Given the description of an element on the screen output the (x, y) to click on. 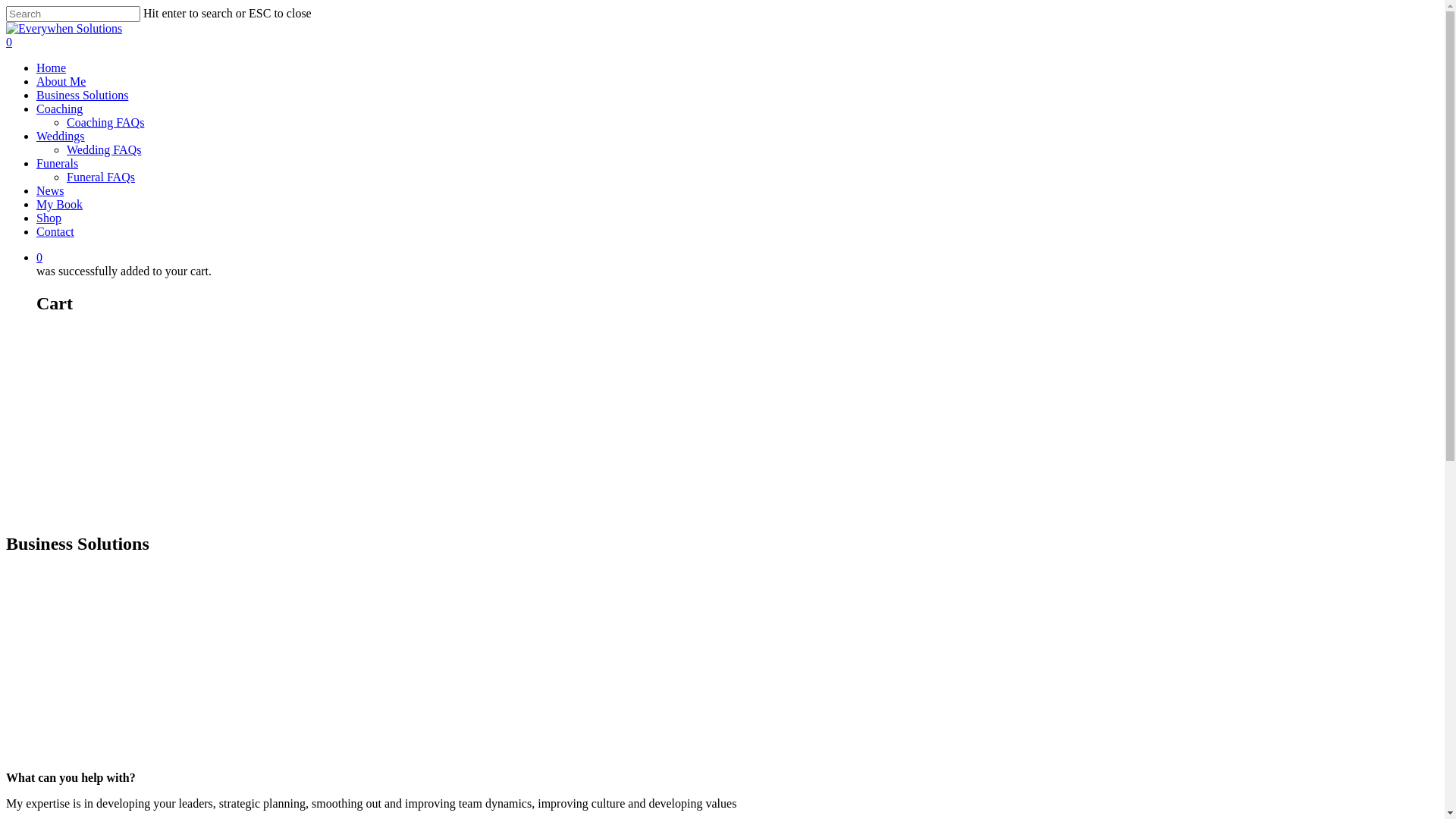
Coaching FAQs Element type: text (105, 122)
Weddings Element type: text (60, 135)
0 Element type: text (737, 257)
Contact Element type: text (55, 231)
Home Element type: text (50, 67)
Funeral FAQs Element type: text (100, 176)
Shop Element type: text (48, 217)
Coaching Element type: text (59, 108)
0 Element type: text (722, 42)
News Element type: text (49, 190)
Wedding FAQs Element type: text (103, 149)
My Book Element type: text (59, 203)
Business Solutions Element type: text (82, 94)
About Me Element type: text (60, 81)
Funerals Element type: text (57, 162)
